Given the description of an element on the screen output the (x, y) to click on. 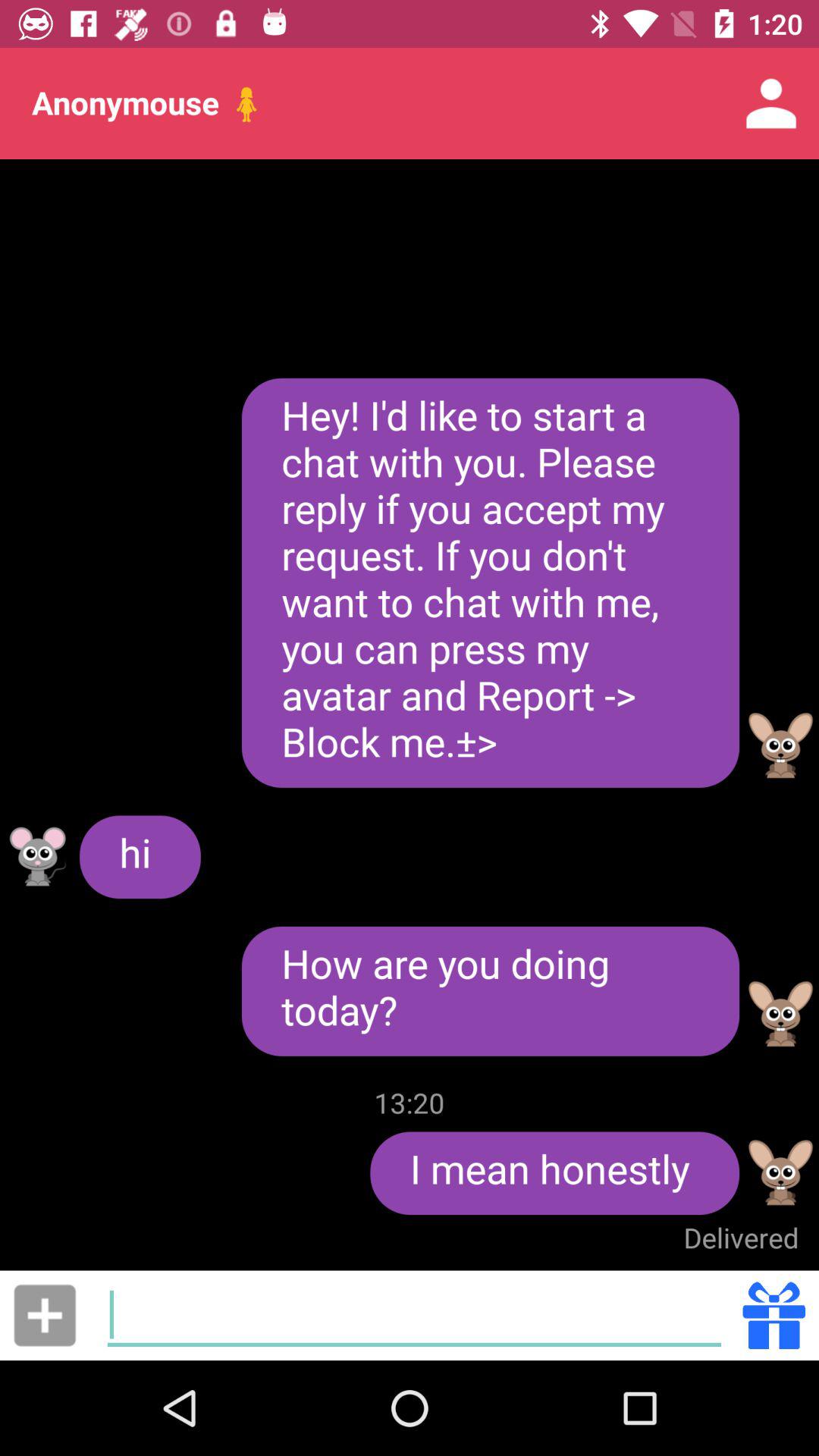
chating box (414, 1315)
